Given the description of an element on the screen output the (x, y) to click on. 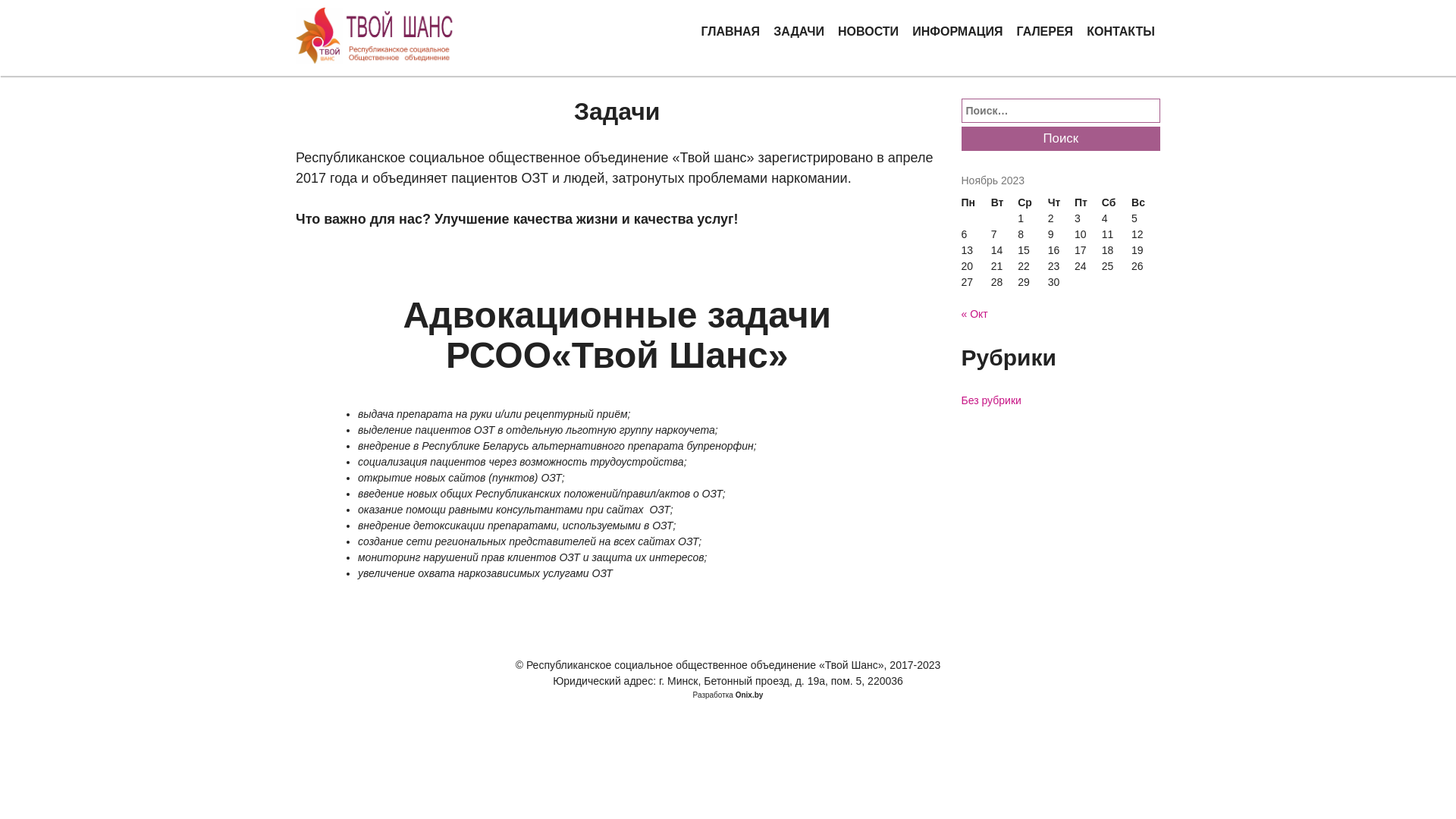
Onix.by Element type: text (749, 694)
